Given the description of an element on the screen output the (x, y) to click on. 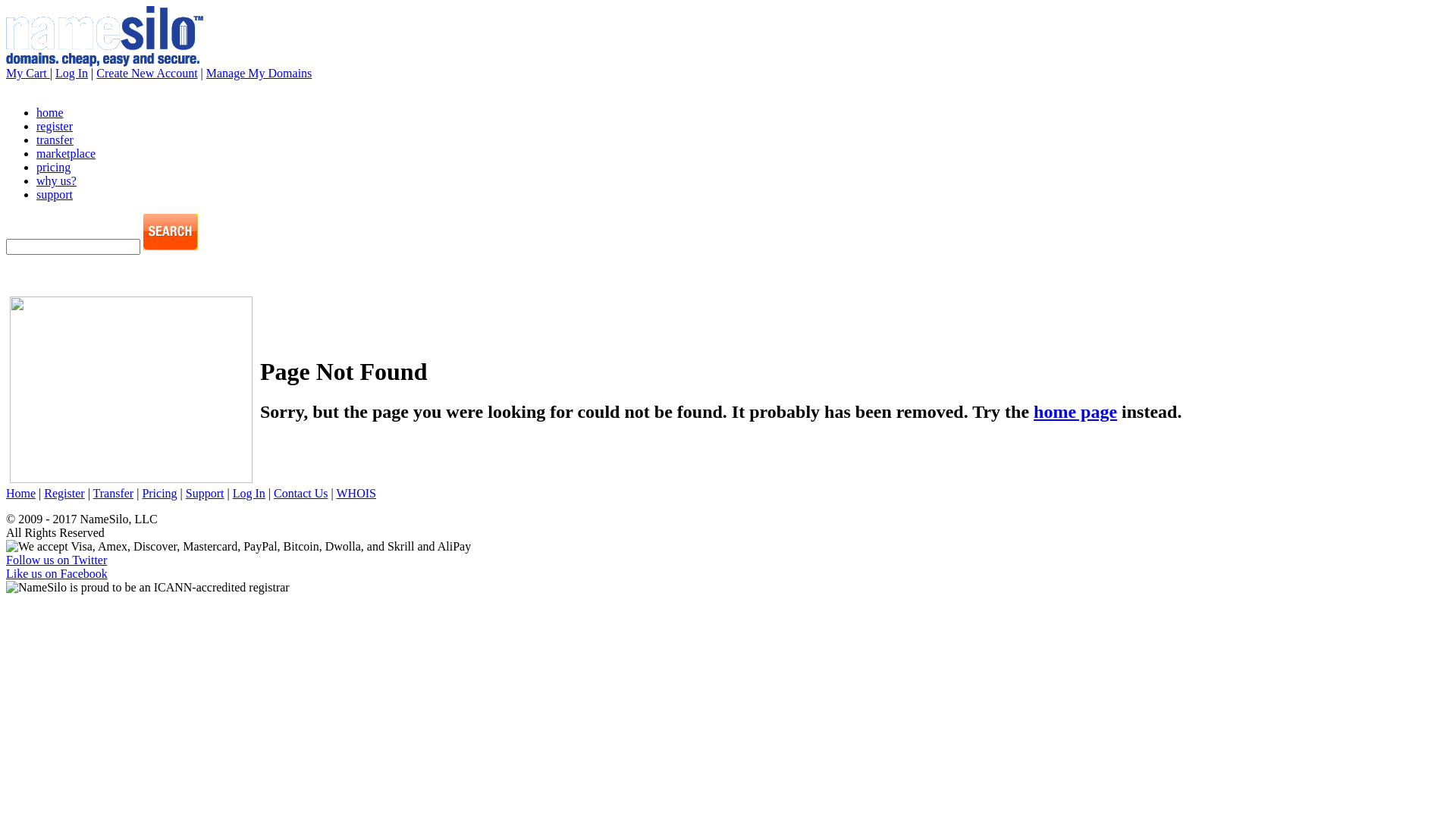
NameSilo is proud to be an ICANN-accredited registrar Element type: hover (147, 587)
pricing Element type: text (53, 166)
home Element type: text (49, 112)
Home Element type: text (20, 492)
home page Element type: text (1075, 411)
marketplace Element type: text (65, 153)
My Cart Element type: text (28, 72)
WHOIS Element type: text (355, 492)
Manage My Domains Element type: text (259, 72)
support Element type: text (54, 194)
transfer Element type: text (54, 139)
Like us on Facebook Element type: text (56, 573)
Log In Element type: text (71, 72)
why us? Element type: text (56, 180)
register Element type: text (54, 125)
Create New Account Element type: text (146, 72)
Follow us on Twitter Element type: text (56, 559)
Support Element type: text (204, 492)
Transfer Element type: text (113, 492)
Contact Us Element type: text (300, 492)
Register Element type: text (63, 492)
Log In Element type: text (248, 492)
Pricing Element type: text (158, 492)
